Given the description of an element on the screen output the (x, y) to click on. 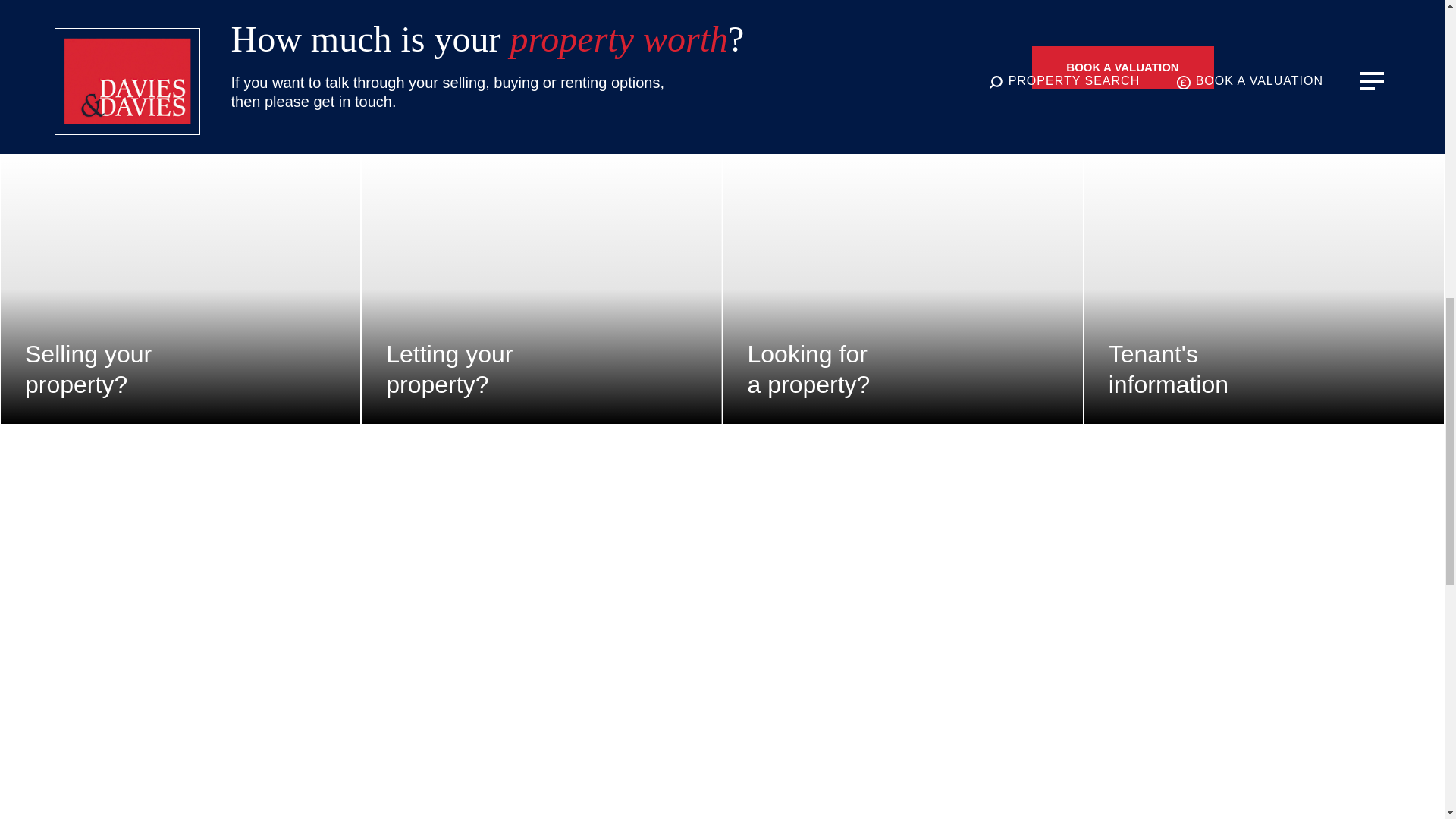
BOOK A VALUATION (180, 289)
